Given the description of an element on the screen output the (x, y) to click on. 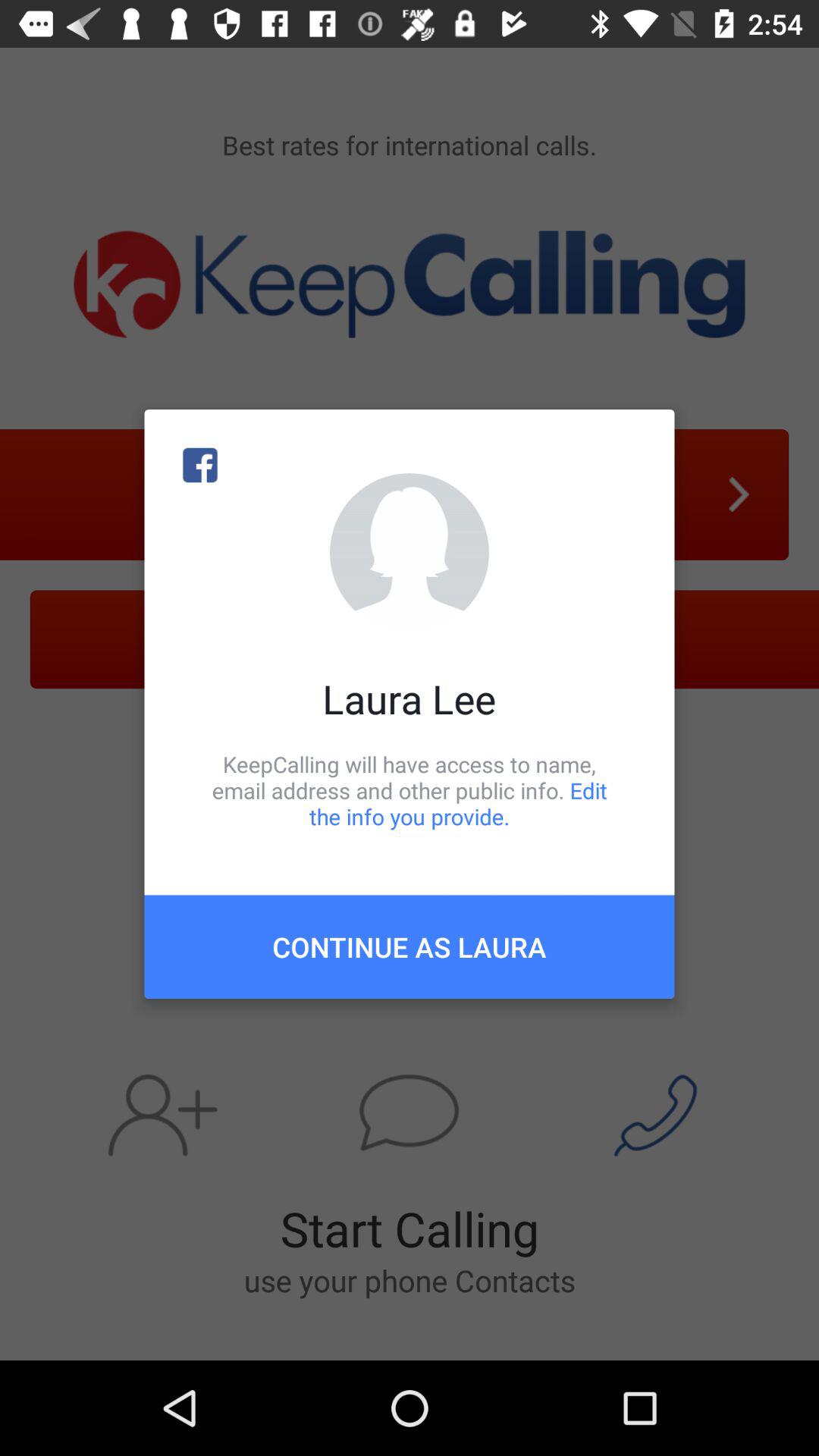
press the keepcalling will have icon (409, 790)
